Given the description of an element on the screen output the (x, y) to click on. 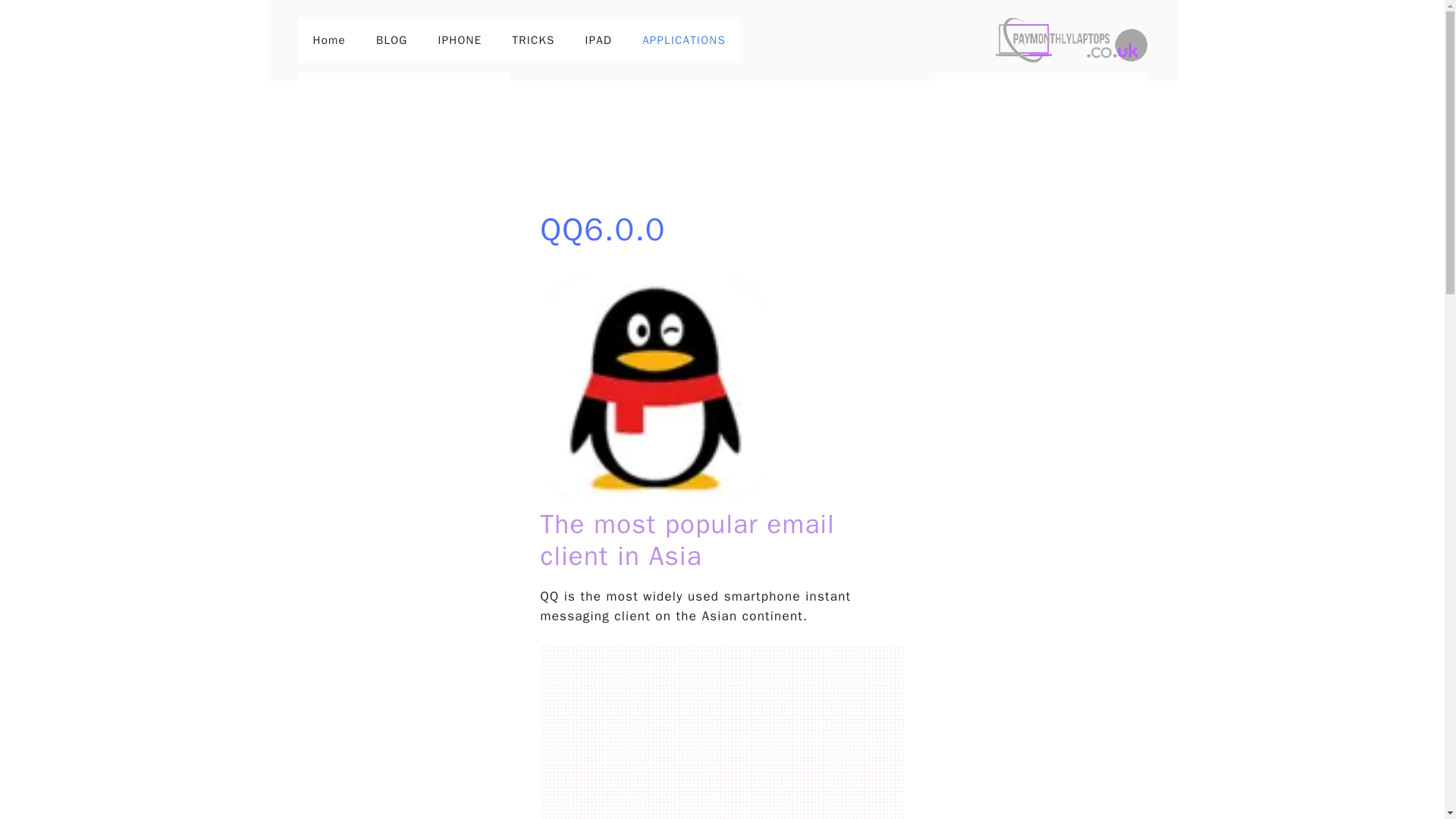
IPAD (598, 40)
APPLICATIONS (684, 40)
IPHONE (460, 40)
Home (328, 40)
BLOG (392, 40)
TRICKS (532, 40)
